Given the description of an element on the screen output the (x, y) to click on. 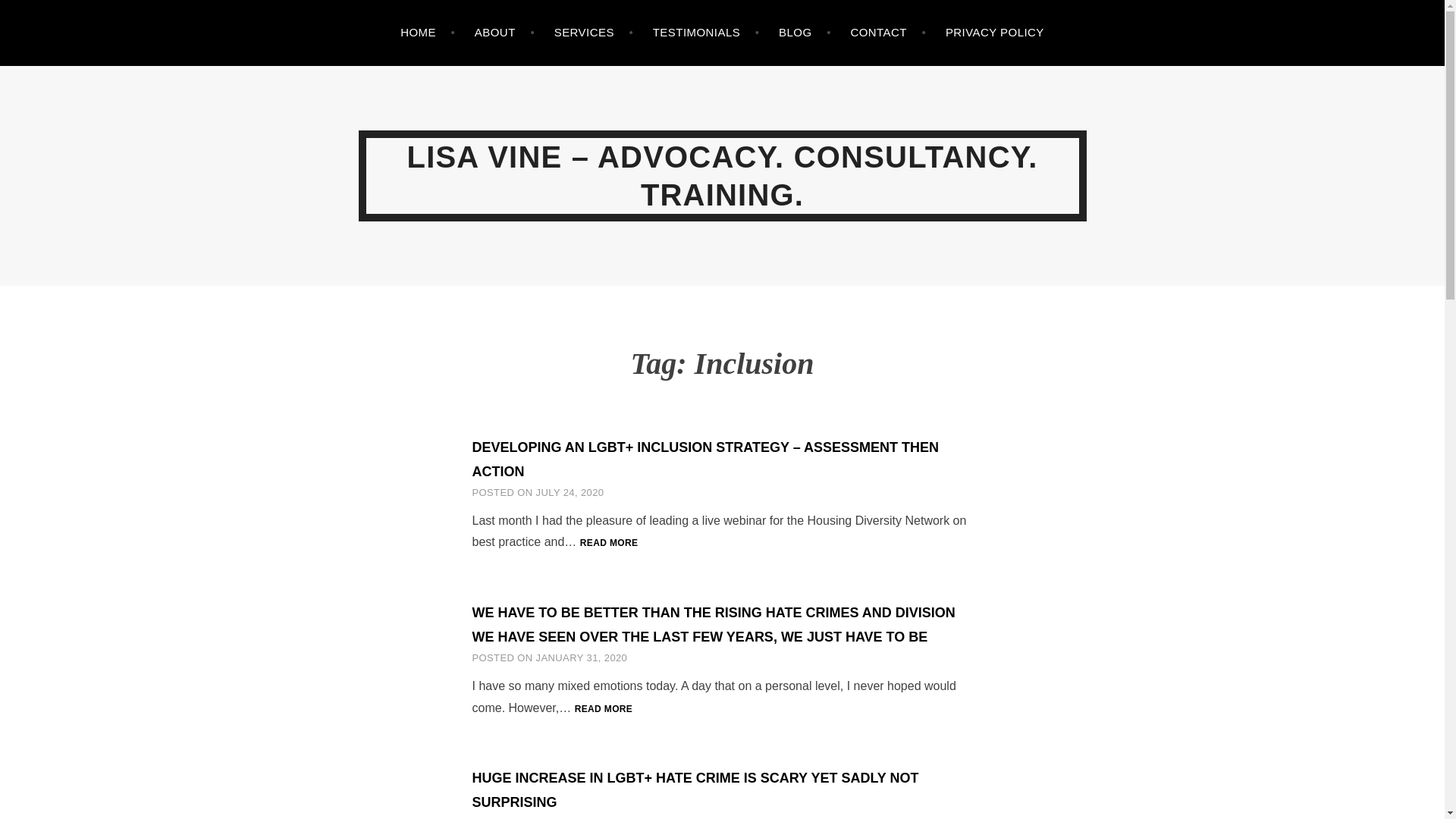
JULY 24, 2020 (569, 491)
ABOUT (504, 32)
CONTACT (888, 32)
PRIVACY POLICY (993, 32)
SERVICES (593, 32)
HOME (427, 32)
BLOG (804, 32)
OCTOBER 16, 2019 (582, 818)
TESTIMONIALS (706, 32)
JANUARY 31, 2020 (581, 657)
